Given the description of an element on the screen output the (x, y) to click on. 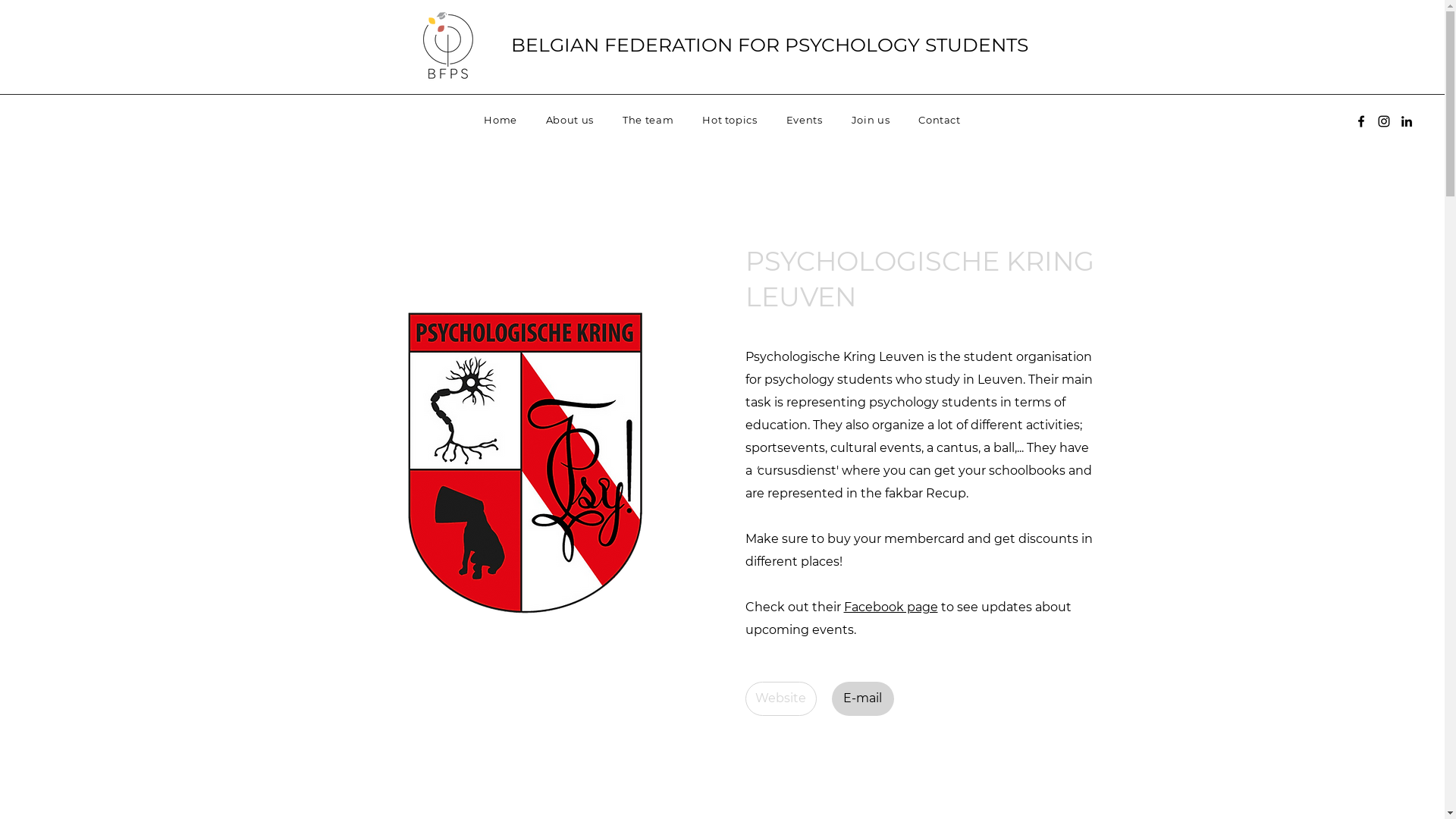
Contact Element type: text (939, 119)
About us Element type: text (569, 119)
Website Element type: text (779, 698)
The team Element type: text (647, 119)
Hot topics Element type: text (729, 119)
BELGIAN FEDERATION FOR PSYCHOLOGY STUDENTS Element type: text (769, 44)
Facebook page Element type: text (890, 606)
Home Element type: text (500, 119)
Events Element type: text (804, 119)
E-mail Element type: text (862, 698)
Join us Element type: text (870, 119)
